Given the description of an element on the screen output the (x, y) to click on. 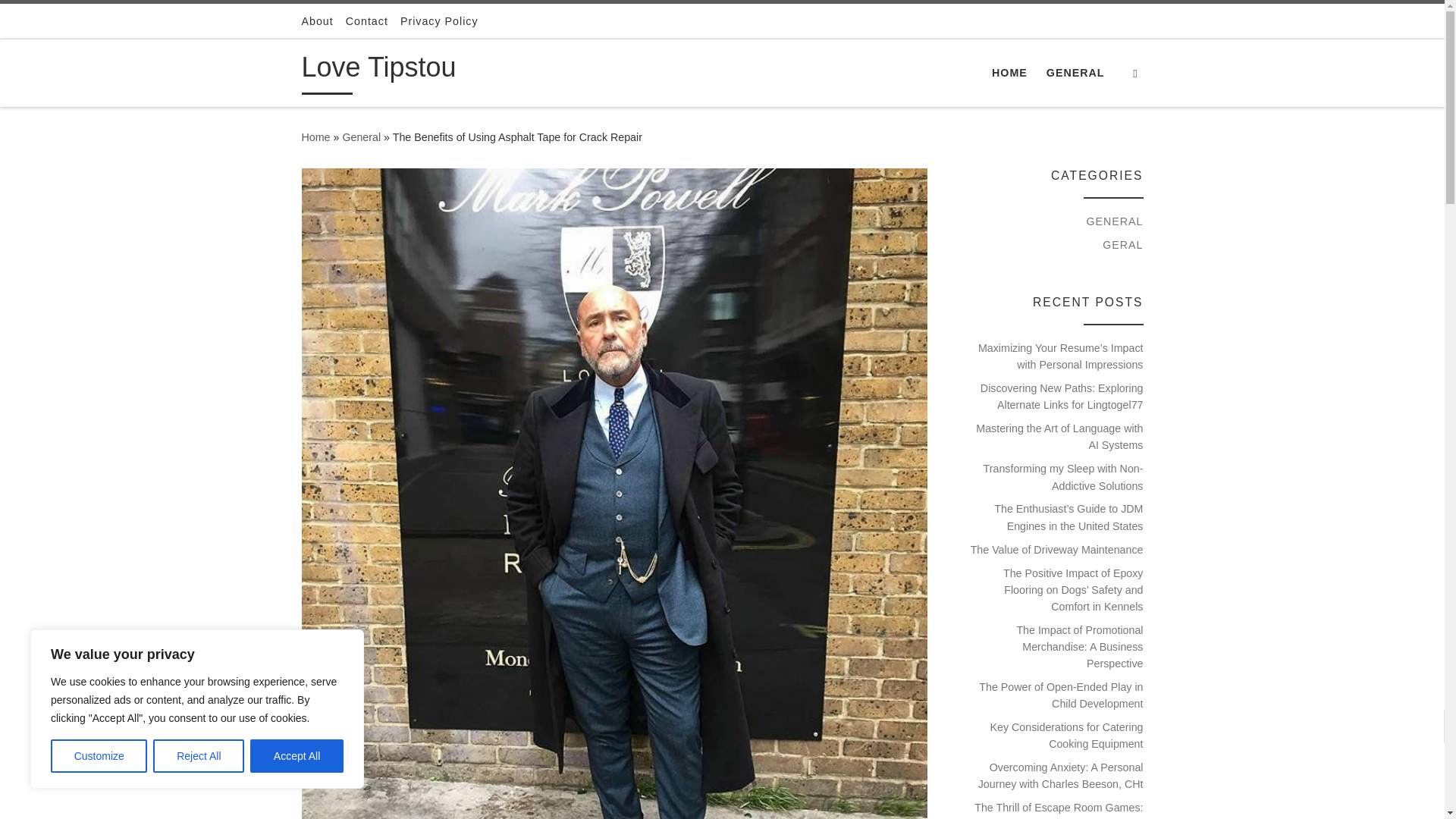
Reject All (198, 756)
Contact (366, 21)
Accept All (296, 756)
Customize (98, 756)
Skip to content (60, 20)
Love Tipstou (379, 70)
GENERAL (1075, 72)
General (361, 137)
HOME (1009, 72)
General (361, 137)
